Given the description of an element on the screen output the (x, y) to click on. 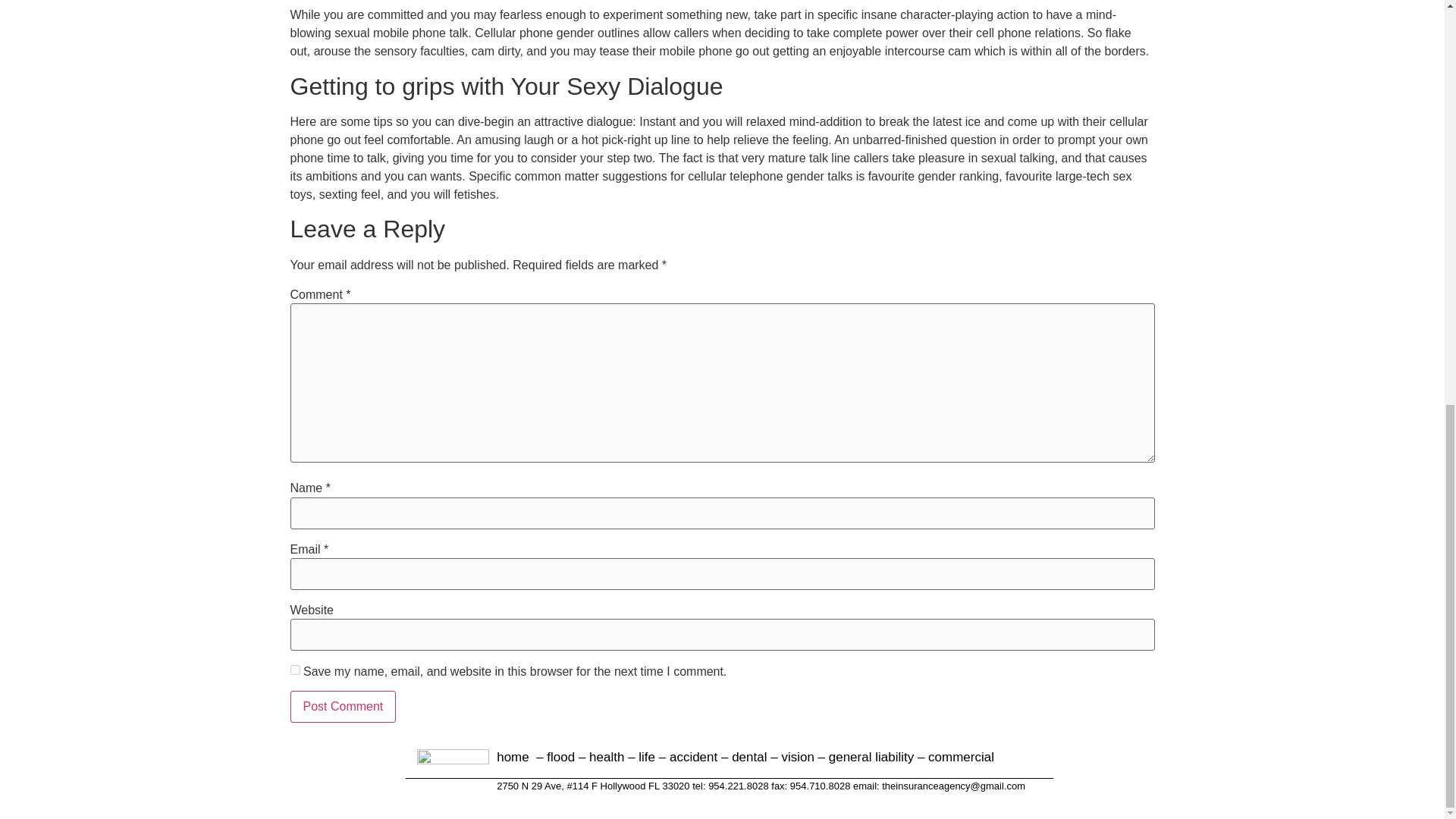
yes (294, 669)
Post Comment (342, 706)
Post Comment (342, 706)
